Given the description of an element on the screen output the (x, y) to click on. 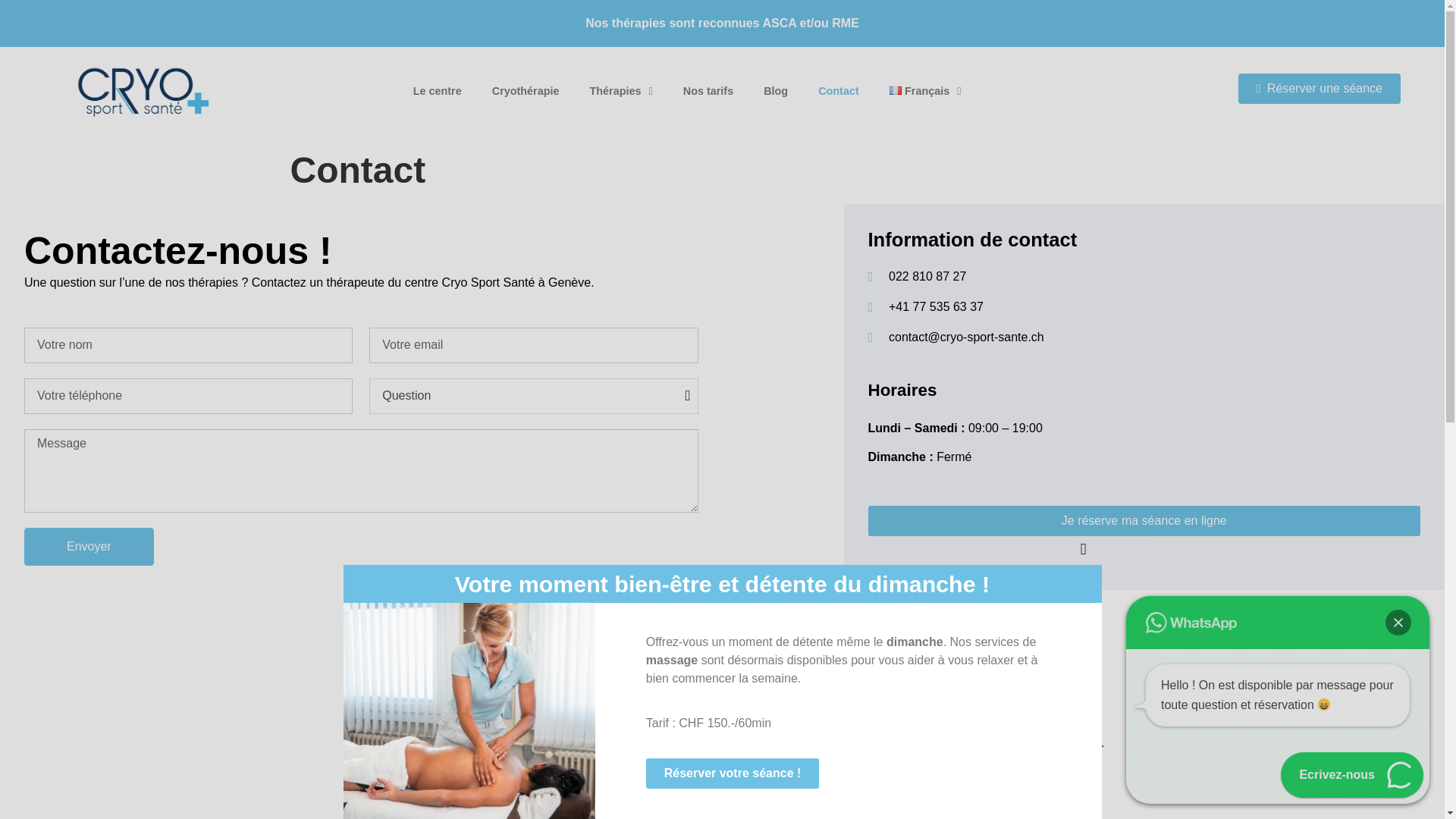
Le centre (437, 90)
022 810 87 27 (1144, 276)
Envoyer (89, 546)
Blog (775, 90)
Contact (839, 90)
Nos tarifs (708, 90)
Fermer (1398, 622)
